Given the description of an element on the screen output the (x, y) to click on. 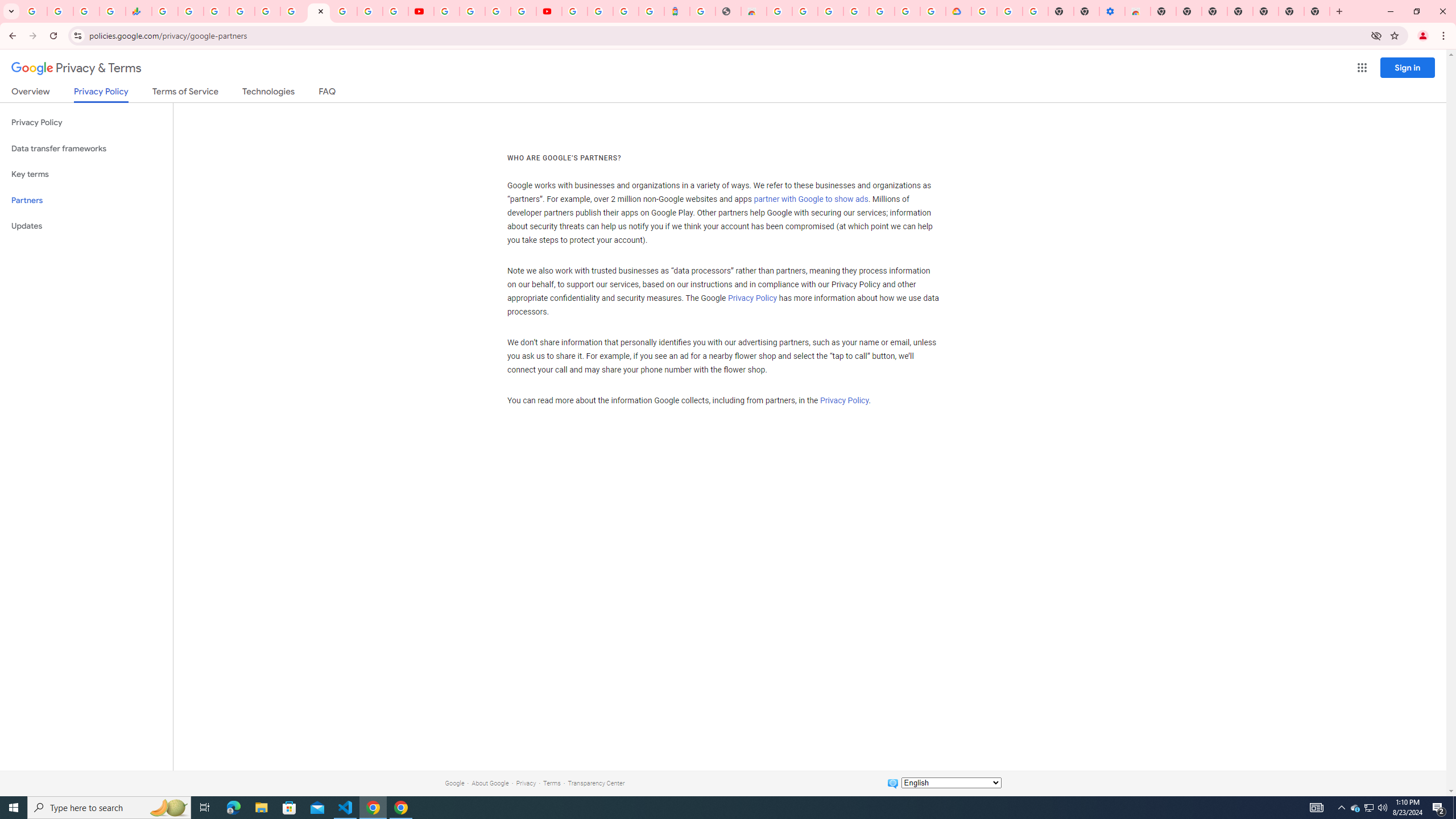
Content Creator Programs & Opportunities - YouTube Creators (548, 11)
Ad Settings (804, 11)
Atour Hotel - Google hotels (676, 11)
YouTube (446, 11)
